Given the description of an element on the screen output the (x, y) to click on. 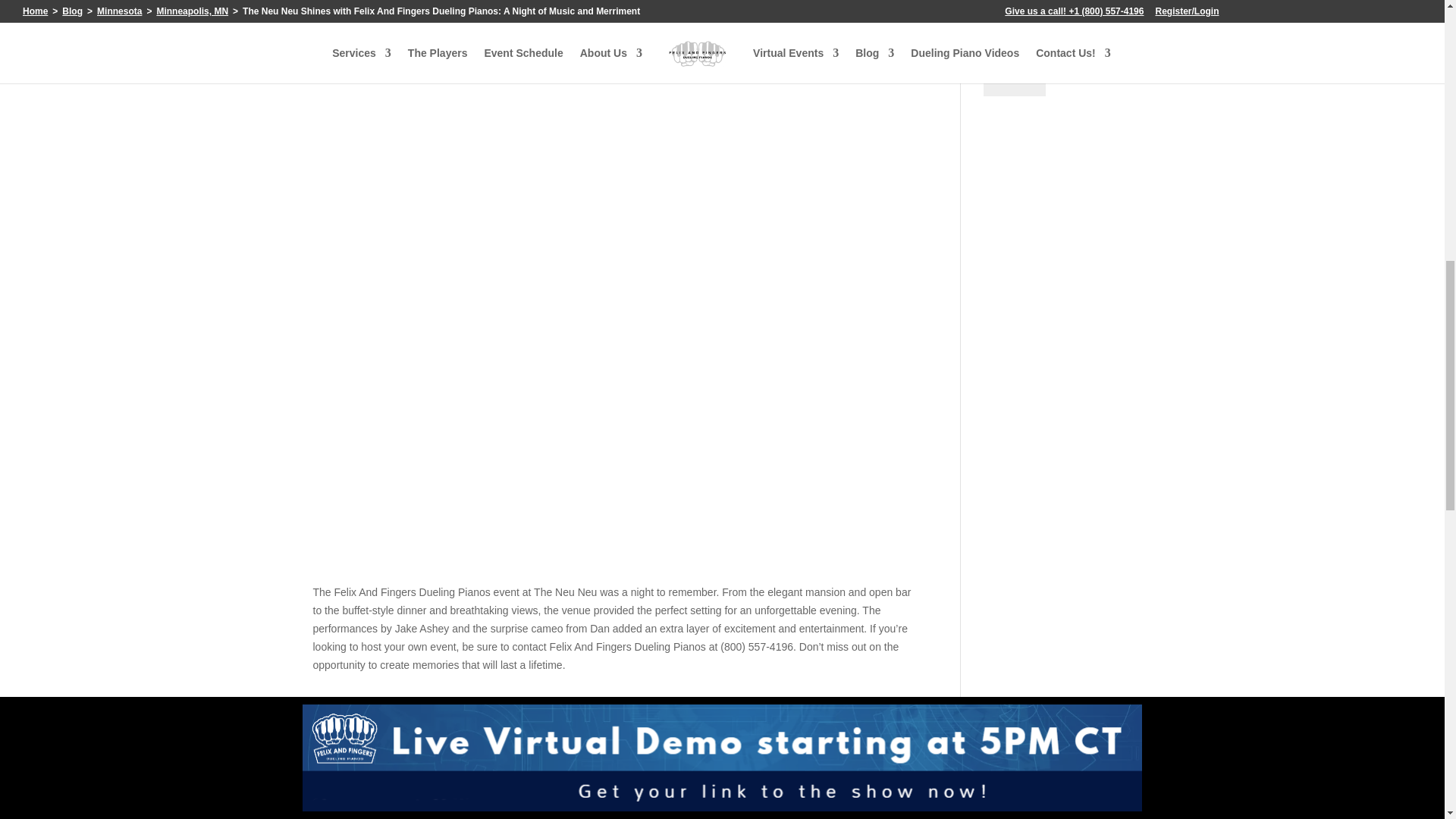
Submit (1014, 77)
